Given the description of an element on the screen output the (x, y) to click on. 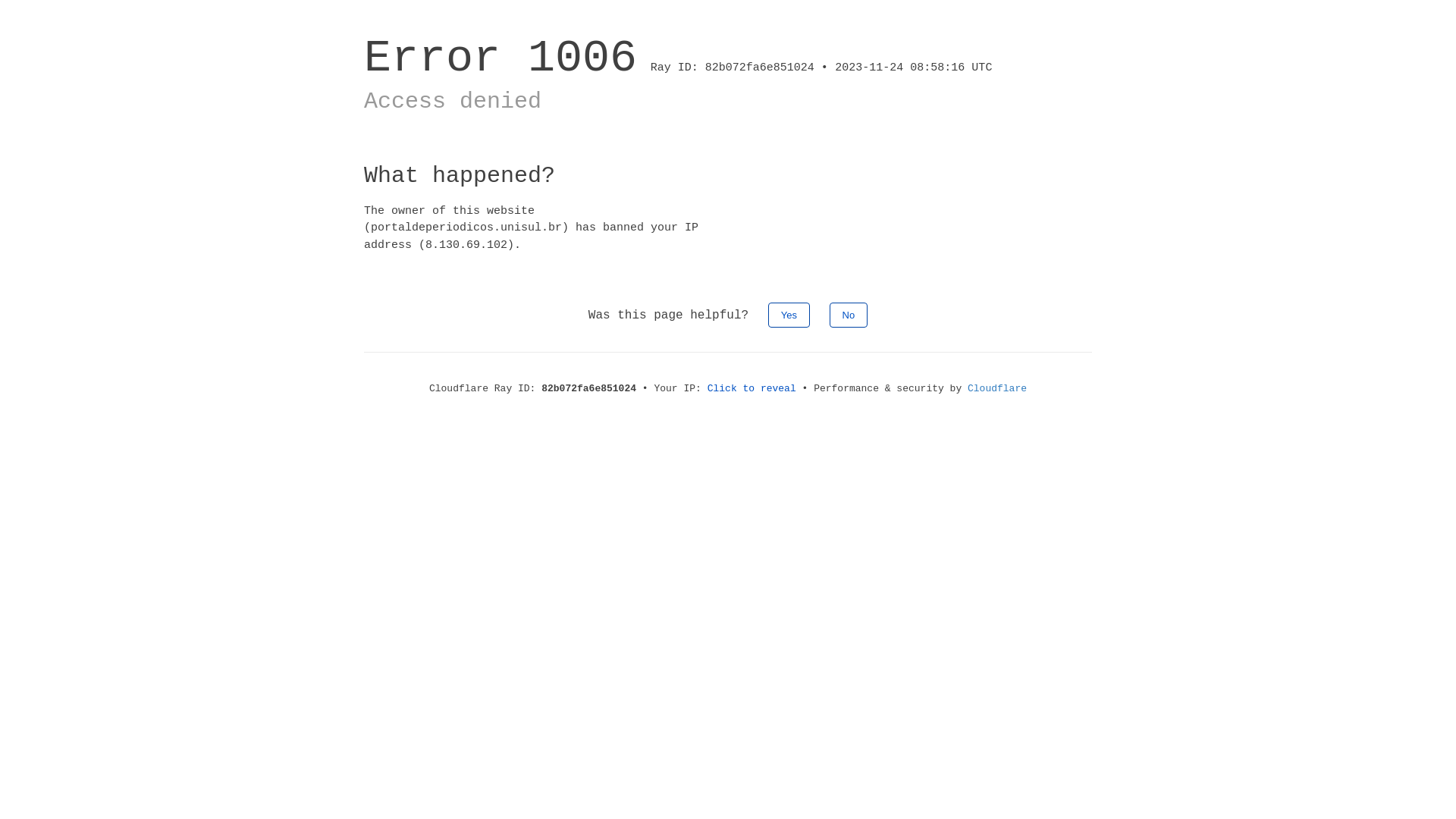
Yes Element type: text (788, 314)
Cloudflare Element type: text (996, 388)
Click to reveal Element type: text (751, 388)
No Element type: text (848, 314)
